Given the description of an element on the screen output the (x, y) to click on. 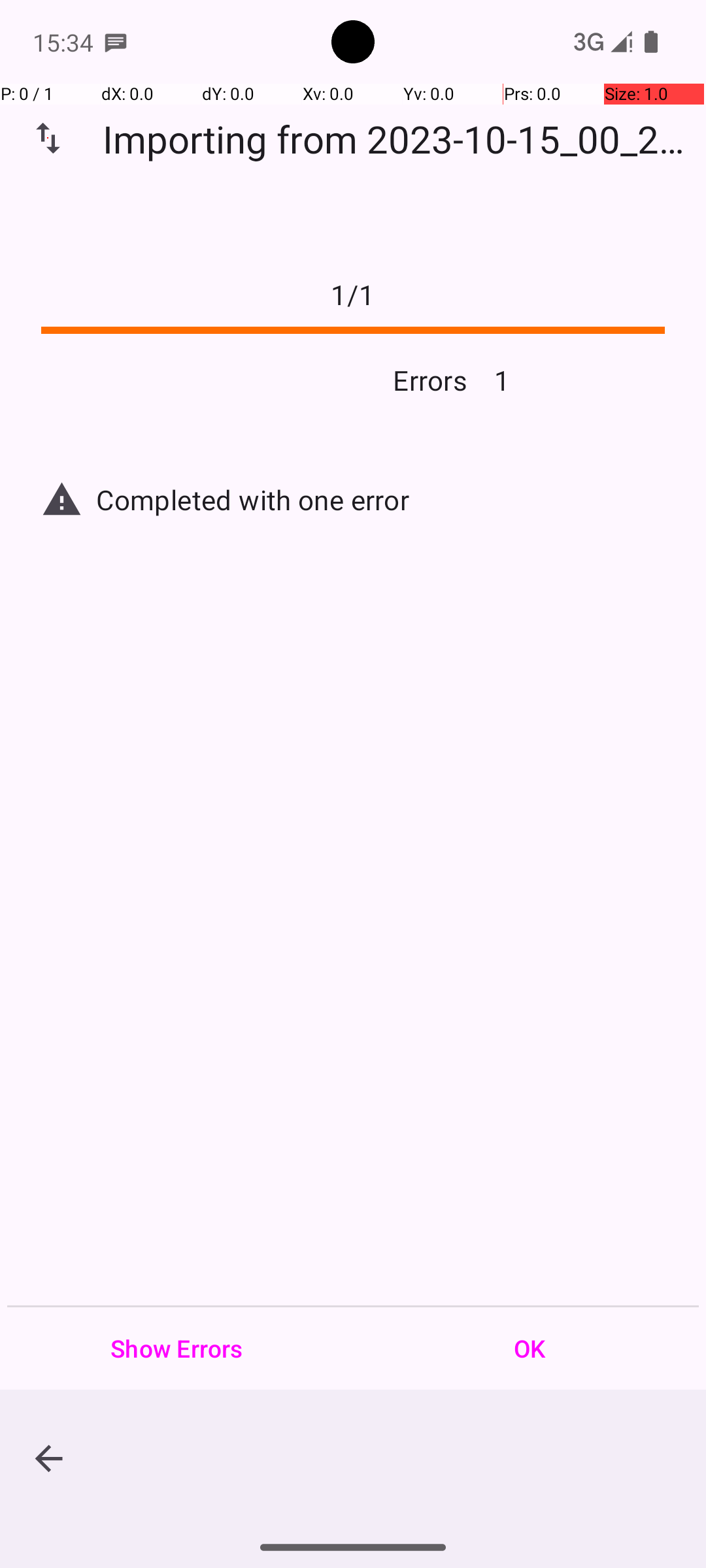
Importing from 2023-10-15_00_22_Paddle Outing.kmz… Element type: android.widget.TextView (400, 138)
Show Errors Element type: android.widget.Button (176, 1348)
/ Element type: android.widget.TextView (352, 293)
Errors Element type: android.widget.TextView (246, 379)
Completed with one error Element type: android.widget.TextView (380, 499)
